Given the description of an element on the screen output the (x, y) to click on. 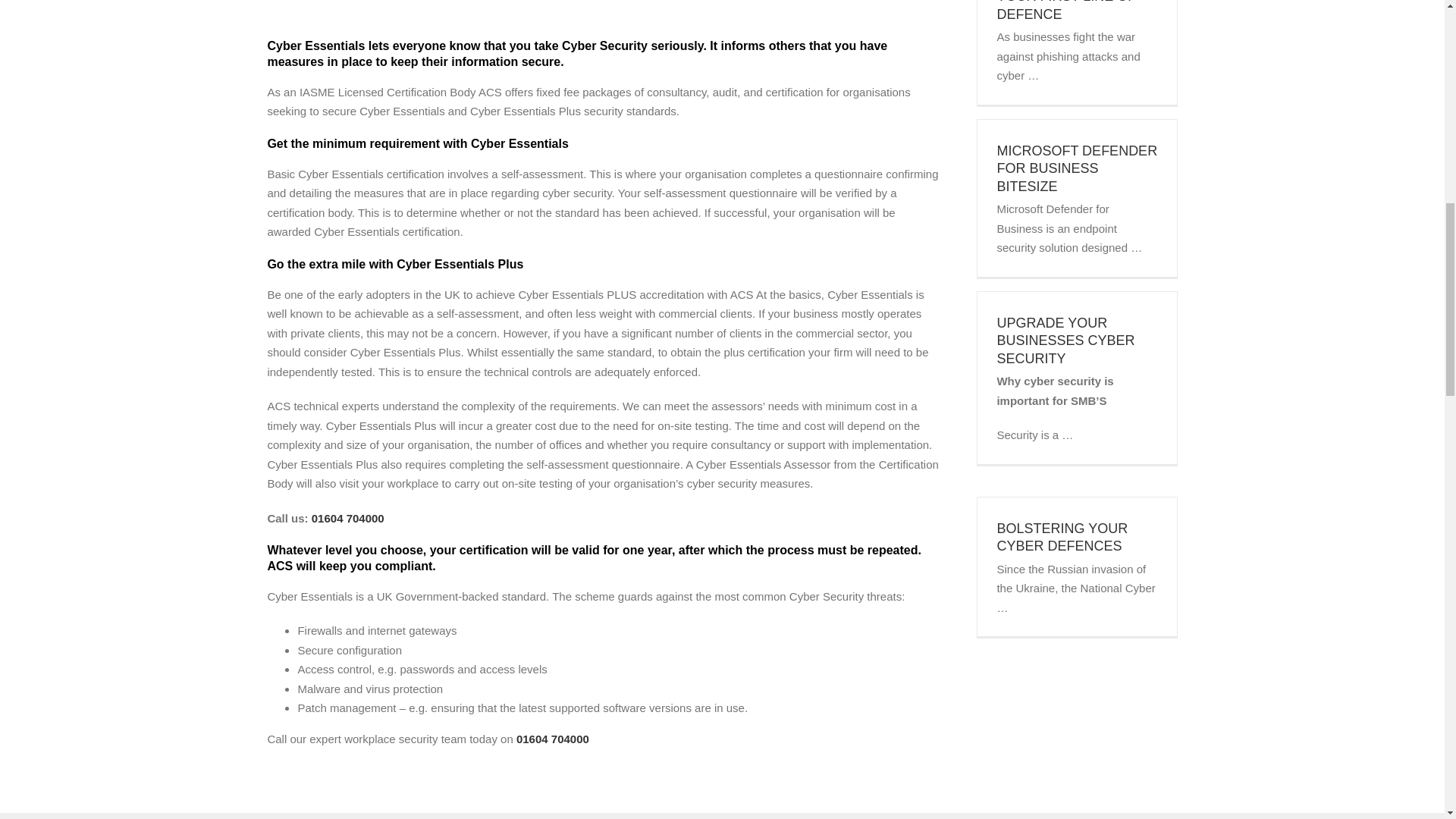
STRENGTHENING YOUR FIRST LINE OF DEFENCE (1065, 11)
01604 704000 (347, 517)
UPGRADE YOUR BUSINESSES CYBER SECURITY (1064, 340)
MICROSOFT DEFENDER FOR BUSINESS BITESIZE (1076, 168)
01604 704000 (552, 738)
BOLSTERING YOUR CYBER DEFENCES (1060, 536)
